Given the description of an element on the screen output the (x, y) to click on. 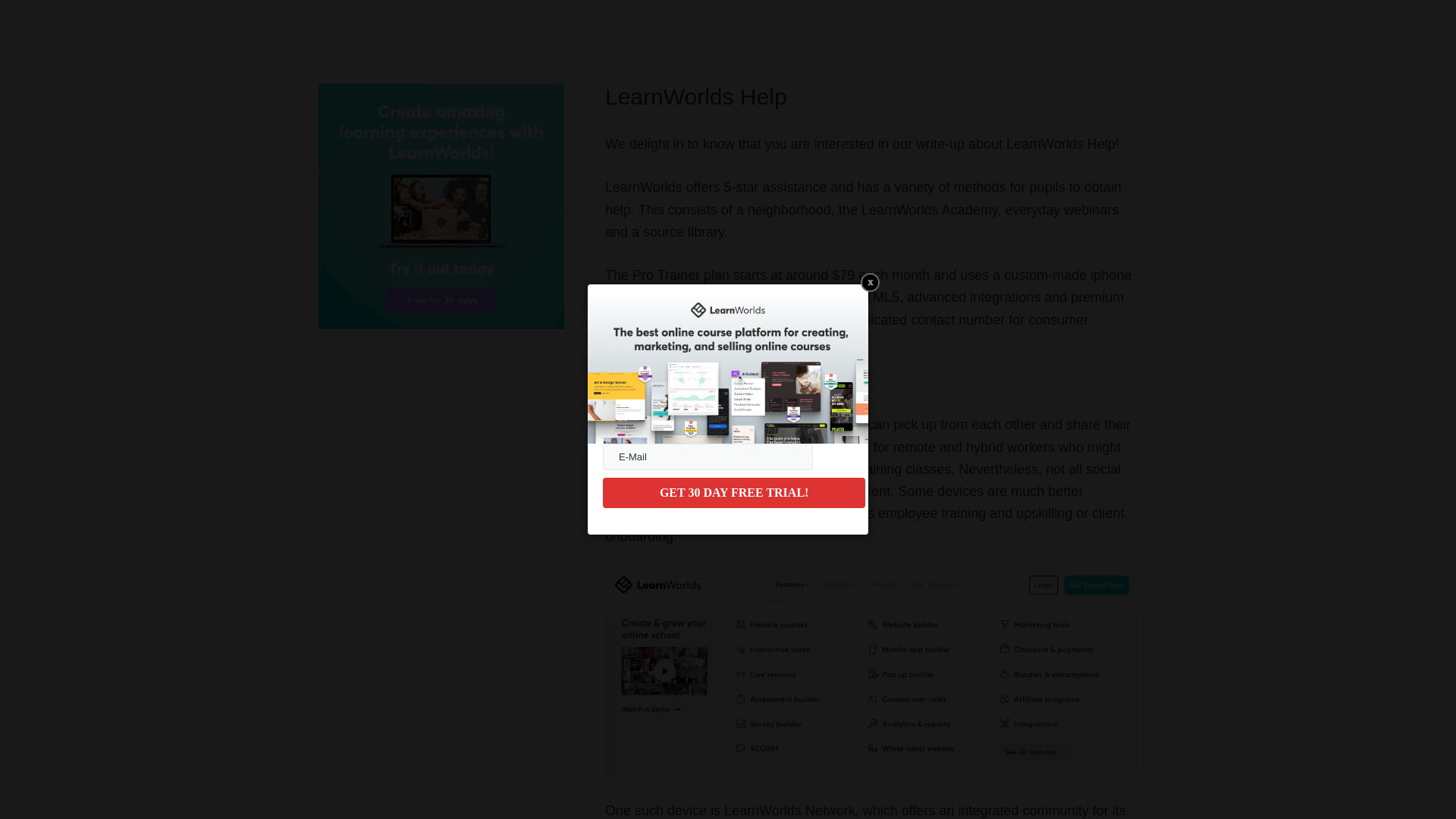
GET 30 DAY FREE TRIAL! (733, 492)
GET 30 DAY FREE TRIAL! (733, 492)
